Given the description of an element on the screen output the (x, y) to click on. 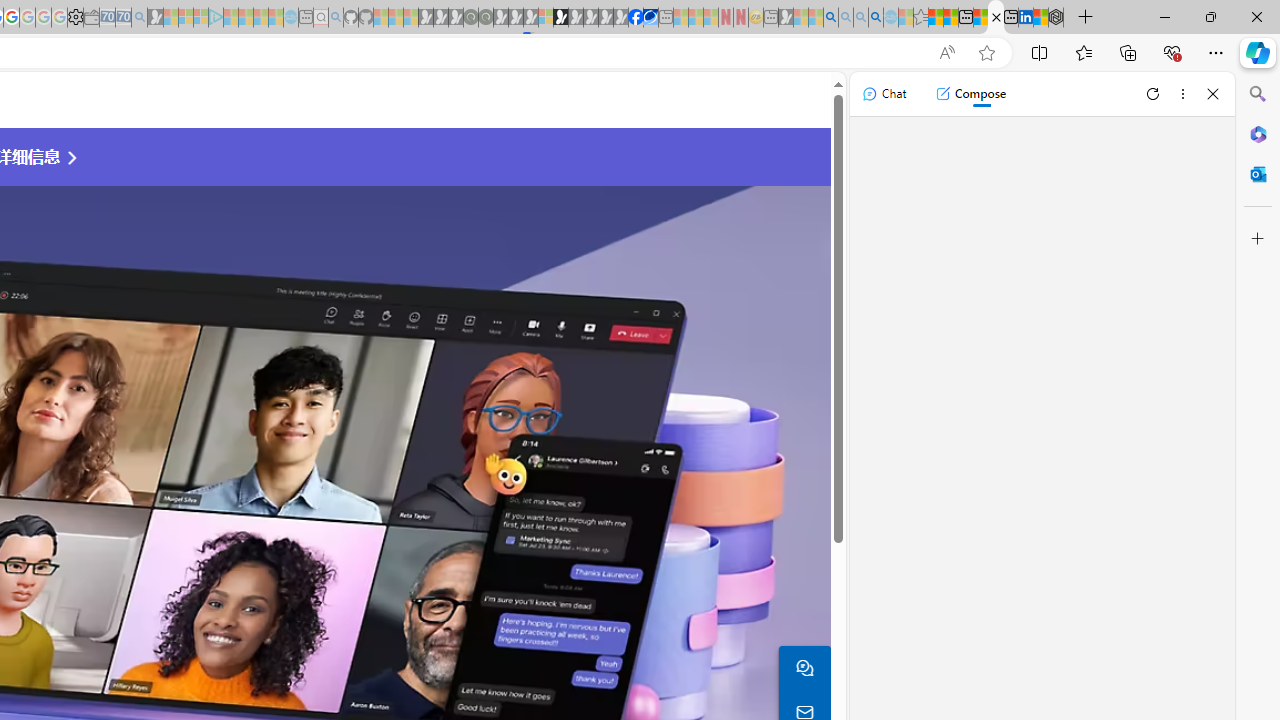
Google Chrome Internet Browser Download - Search Images (876, 17)
Bing AI - Search (831, 17)
